Given the description of an element on the screen output the (x, y) to click on. 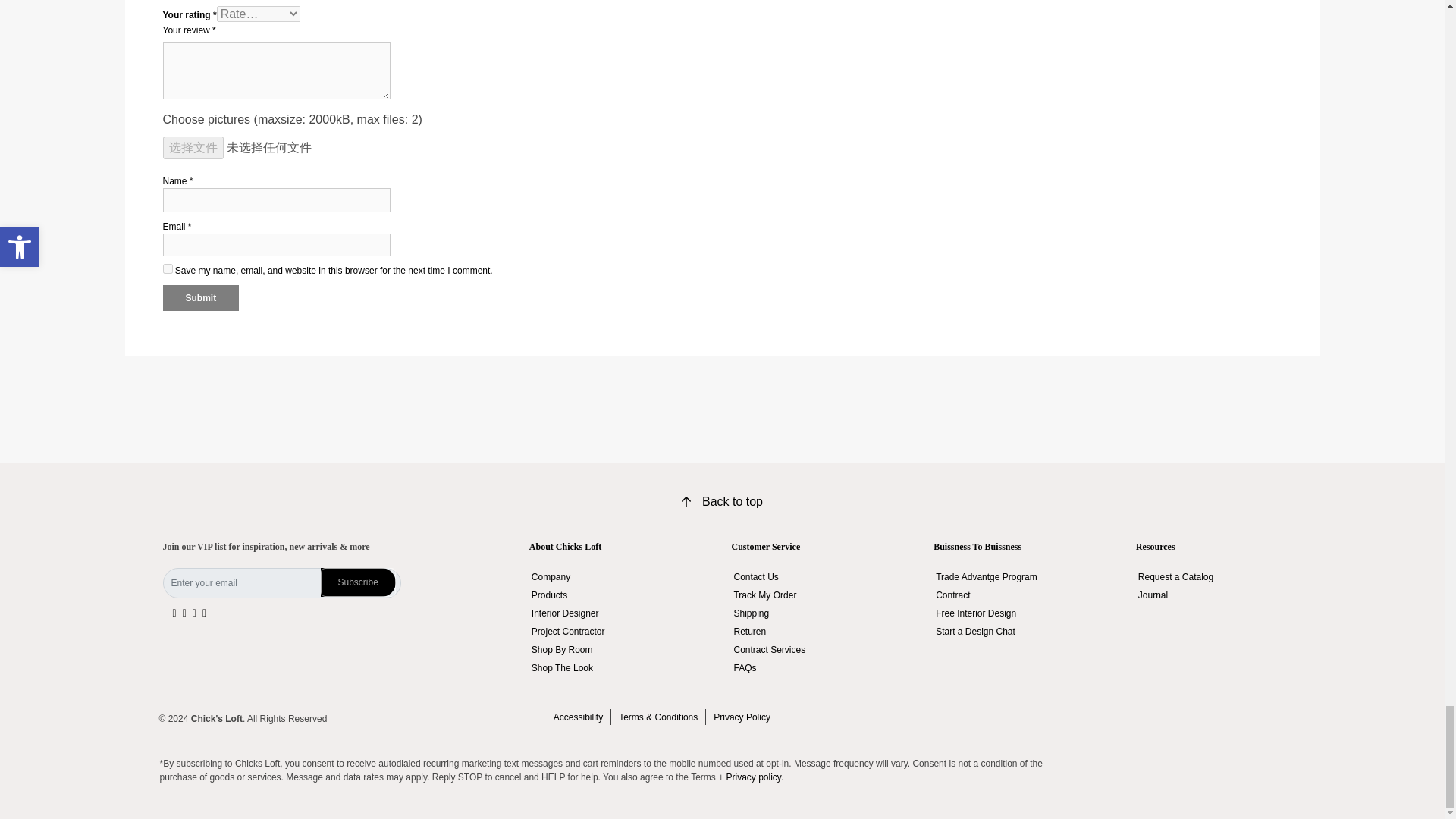
Subscribe (336, 600)
Submit (199, 298)
yes (166, 268)
